Given the description of an element on the screen output the (x, y) to click on. 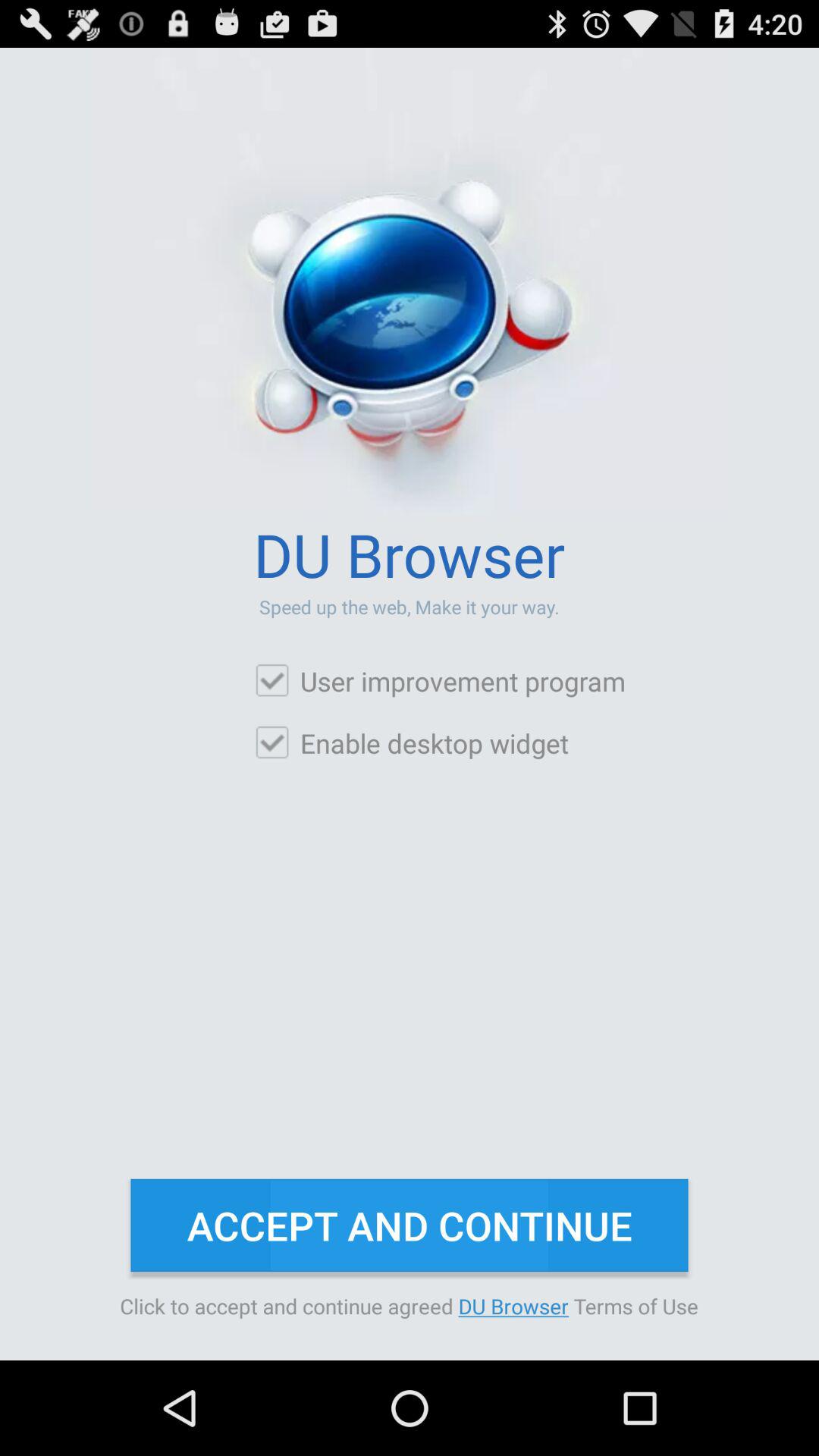
select icon above accept and continue icon (410, 742)
